Given the description of an element on the screen output the (x, y) to click on. 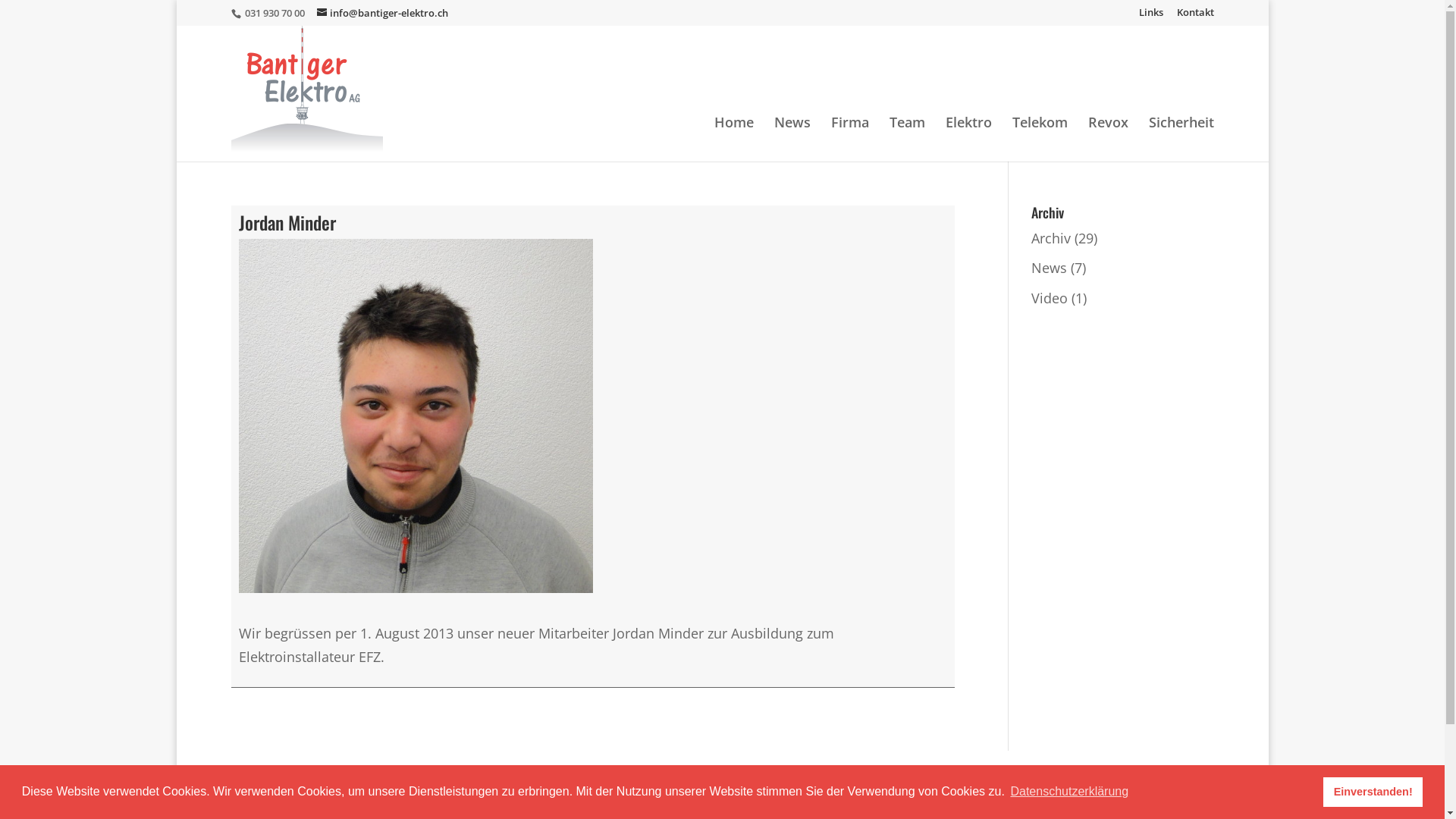
Elektro Element type: text (967, 138)
Einverstanden! Element type: text (1372, 791)
Archiv Element type: text (1050, 238)
Revox Element type: text (1107, 138)
Links Element type: text (1151, 16)
info@bantiger-elektro.ch Element type: text (382, 12)
Telekom Element type: text (1038, 138)
Firma Element type: text (850, 138)
Sicherheit Element type: text (1180, 138)
Kontakt Element type: text (1195, 16)
Team Element type: text (906, 138)
News Element type: text (1048, 267)
News Element type: text (791, 138)
Video Element type: text (1049, 297)
Home Element type: text (733, 138)
